Given the description of an element on the screen output the (x, y) to click on. 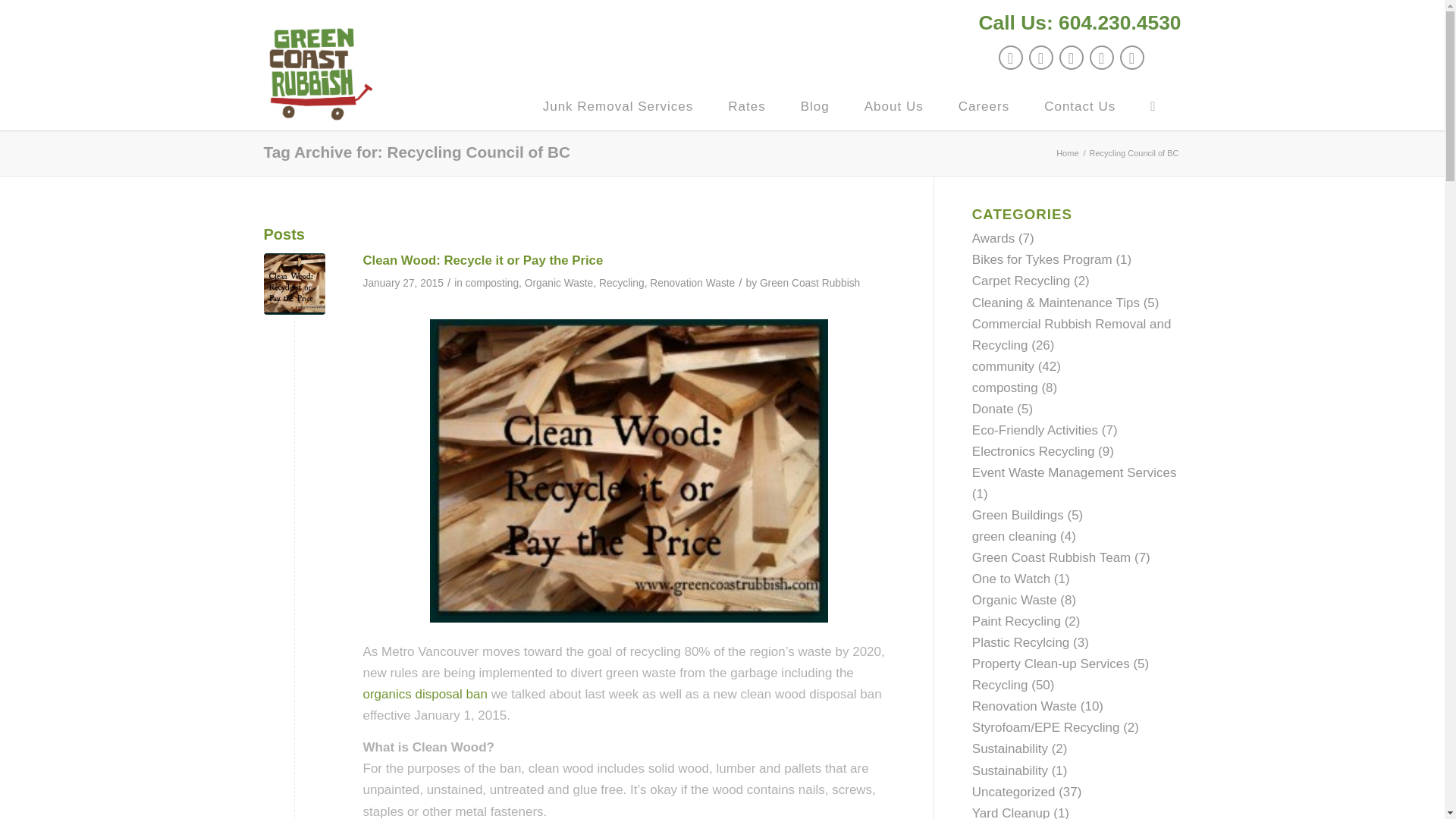
Posts by Green Coast Rubbish (810, 283)
GooglePlus (1070, 57)
Twitter (1009, 57)
Instagram (1101, 57)
Call Us: 604.230.4530 (1079, 22)
Recycling (621, 283)
Junk Removal Services (617, 106)
Facebook (1039, 57)
Clean Wood: Recycle it or Pay the Price (482, 260)
Organic Waste (559, 283)
composting (491, 283)
Permanent Link: Tag Archive for: Recycling Council of BC (416, 151)
Green Coast Rubbish Clean Wood Disposal Ban (293, 283)
Green Coast Rubbish (810, 283)
Renovation Waste (692, 283)
